Given the description of an element on the screen output the (x, y) to click on. 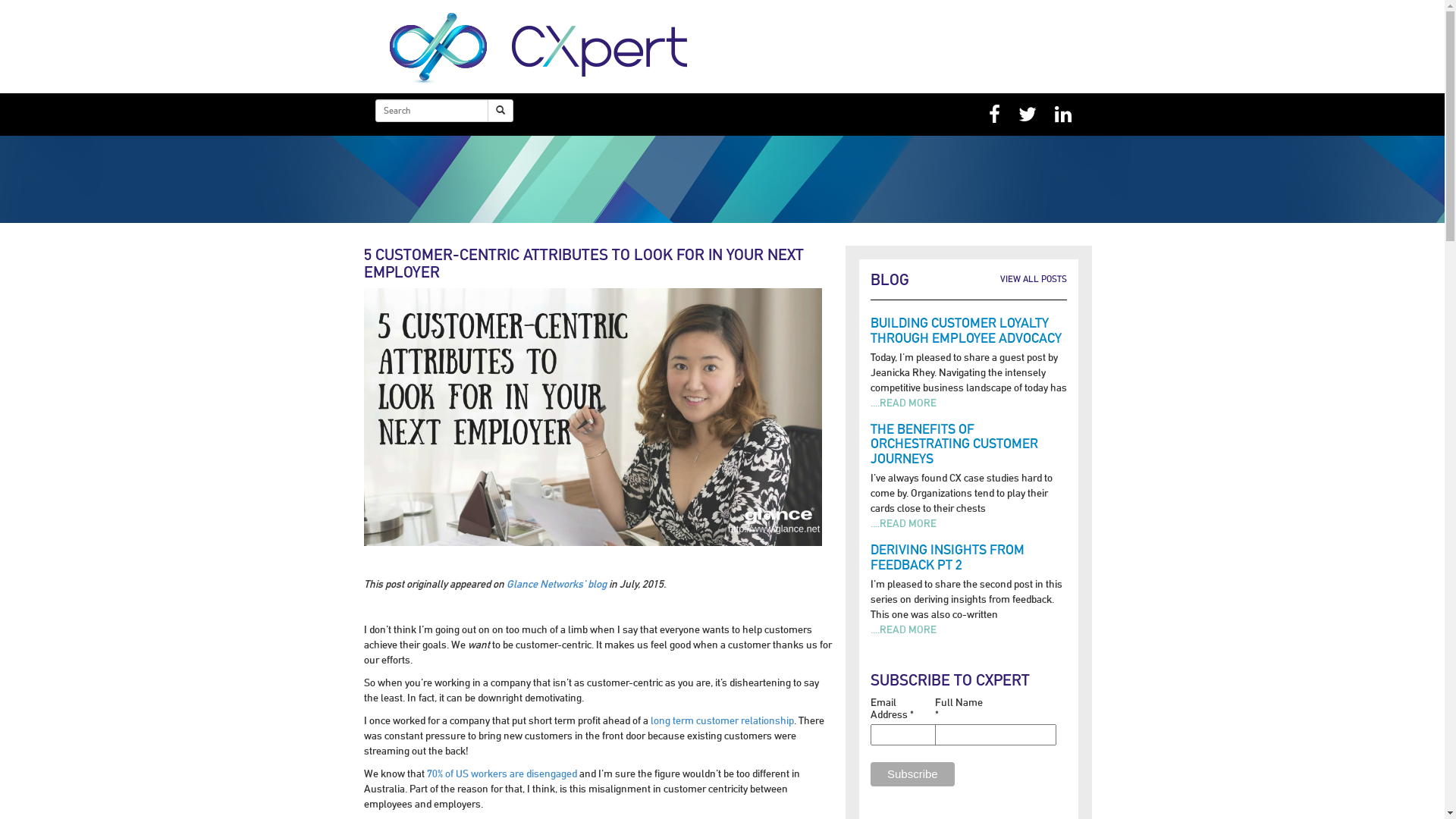
BUILDING CUSTOMER LOYALTY THROUGH EMPLOYEE ADVOCACY Element type: text (965, 329)
....READ MORE Element type: text (903, 402)
Subscribe Element type: text (912, 774)
DERIVING INSIGHTS FROM FEEDBACK PT 2 Element type: text (947, 556)
CXpert on Facebook Element type: hover (994, 114)
CXpert on Twitter Element type: hover (1027, 114)
Search for: Element type: hover (431, 110)
THE BENEFITS OF ORCHESTRATING CUSTOMER JOURNEYS Element type: text (954, 443)
....READ MORE Element type: text (903, 523)
VIEW ALL POSTS Element type: text (1033, 278)
CXpert on Linkedin Element type: hover (1062, 114)
70% of US workers are disengaged Element type: text (501, 773)
long term customer relationship Element type: text (721, 720)
....READ MORE Element type: text (903, 629)
